Given the description of an element on the screen output the (x, y) to click on. 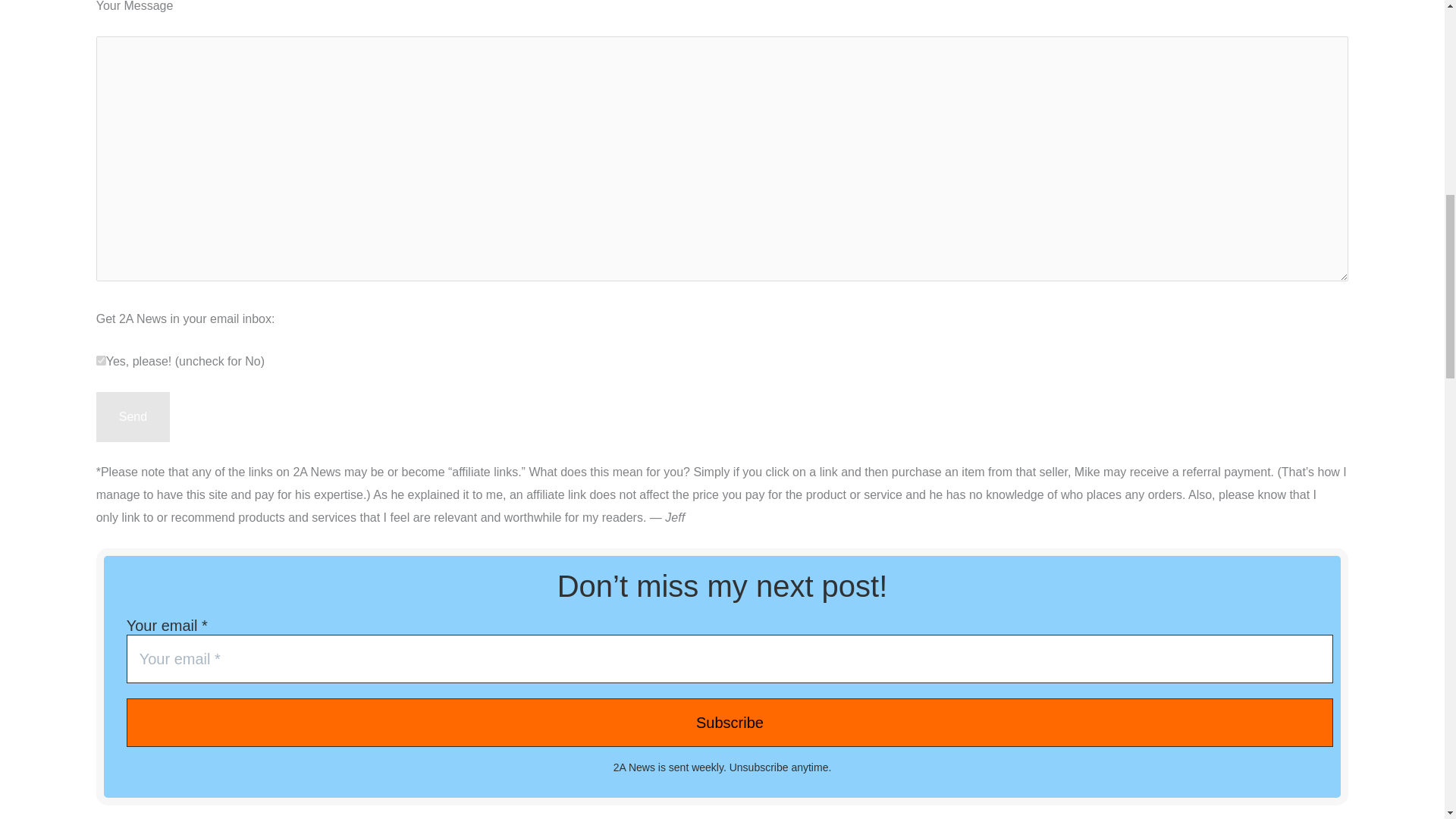
Send (133, 417)
Your email (729, 658)
Send (133, 417)
Subscribe (729, 722)
Subscribe (101, 360)
